Given the description of an element on the screen output the (x, y) to click on. 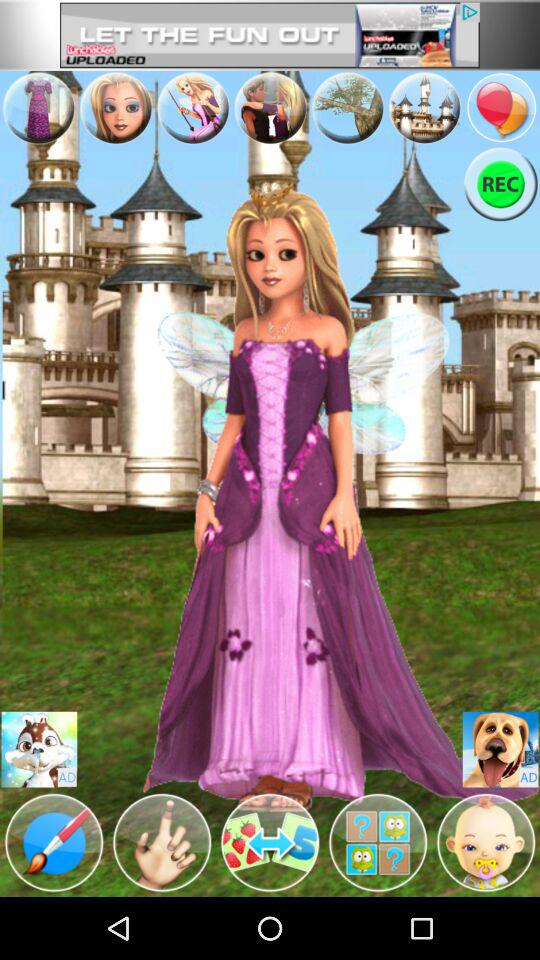
select stencil (54, 843)
